Given the description of an element on the screen output the (x, y) to click on. 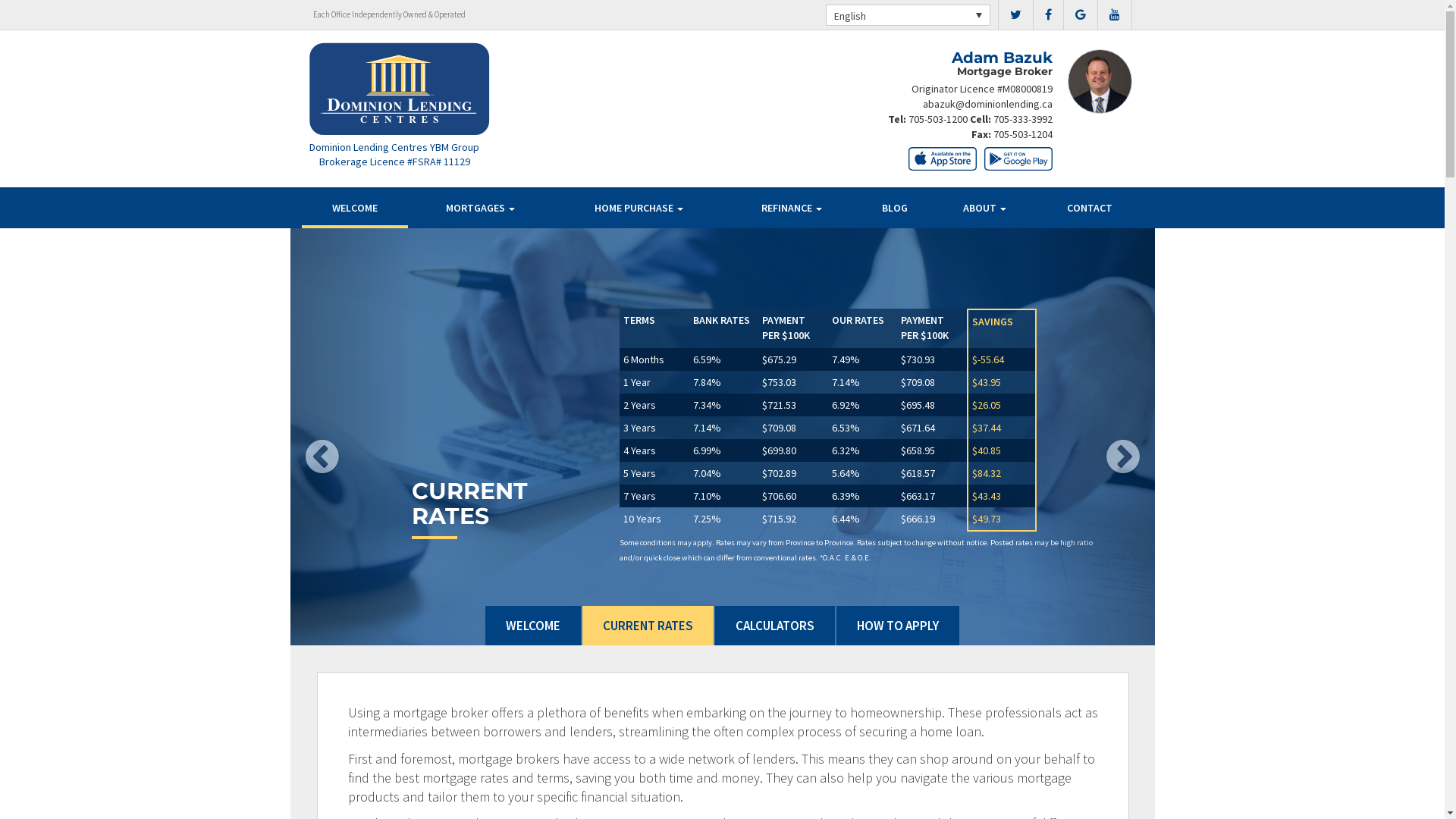
CONTACT Element type: text (1089, 207)
CURRENT RATES Element type: text (647, 625)
Next Element type: text (1089, 436)
Previous Element type: text (354, 436)
HOW TO APPLY Element type: text (897, 625)
705-333-3992 Element type: text (1022, 118)
abazuk@dominionlending.ca Element type: text (986, 103)
CALCULATORS Element type: text (774, 625)
WELCOME Element type: text (354, 207)
ABOUT Element type: text (983, 207)
HOME PURCHASE Element type: text (639, 207)
MORTGAGES Element type: text (479, 207)
705-503-1204 Element type: text (1022, 134)
REFINANCE Element type: text (791, 207)
BLOG Element type: text (894, 207)
WELCOME Element type: text (532, 625)
English Element type: text (907, 14)
705-503-1200 Element type: text (937, 118)
